Given the description of an element on the screen output the (x, y) to click on. 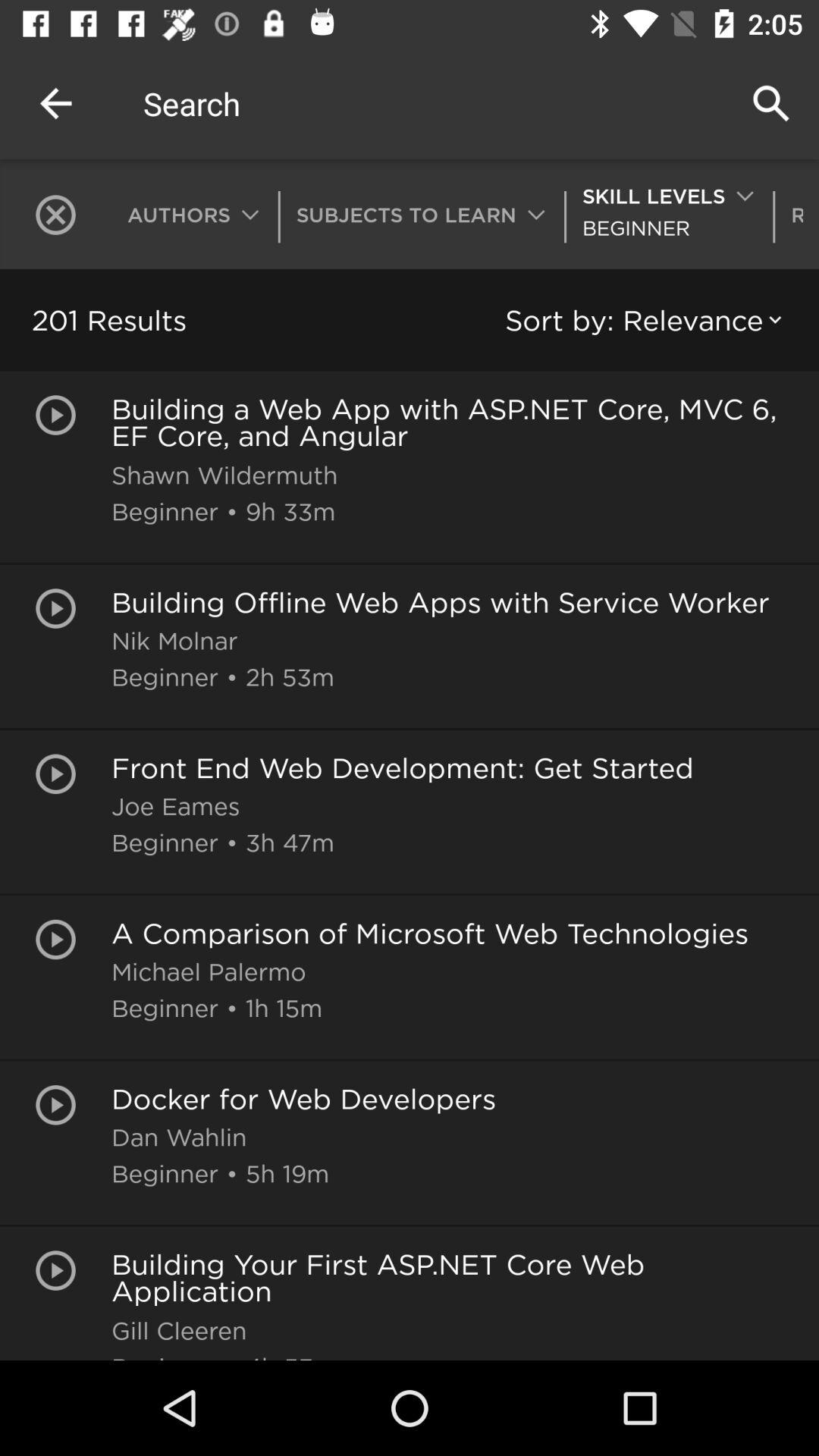
turn off icon next to authors icon (63, 214)
